Given the description of an element on the screen output the (x, y) to click on. 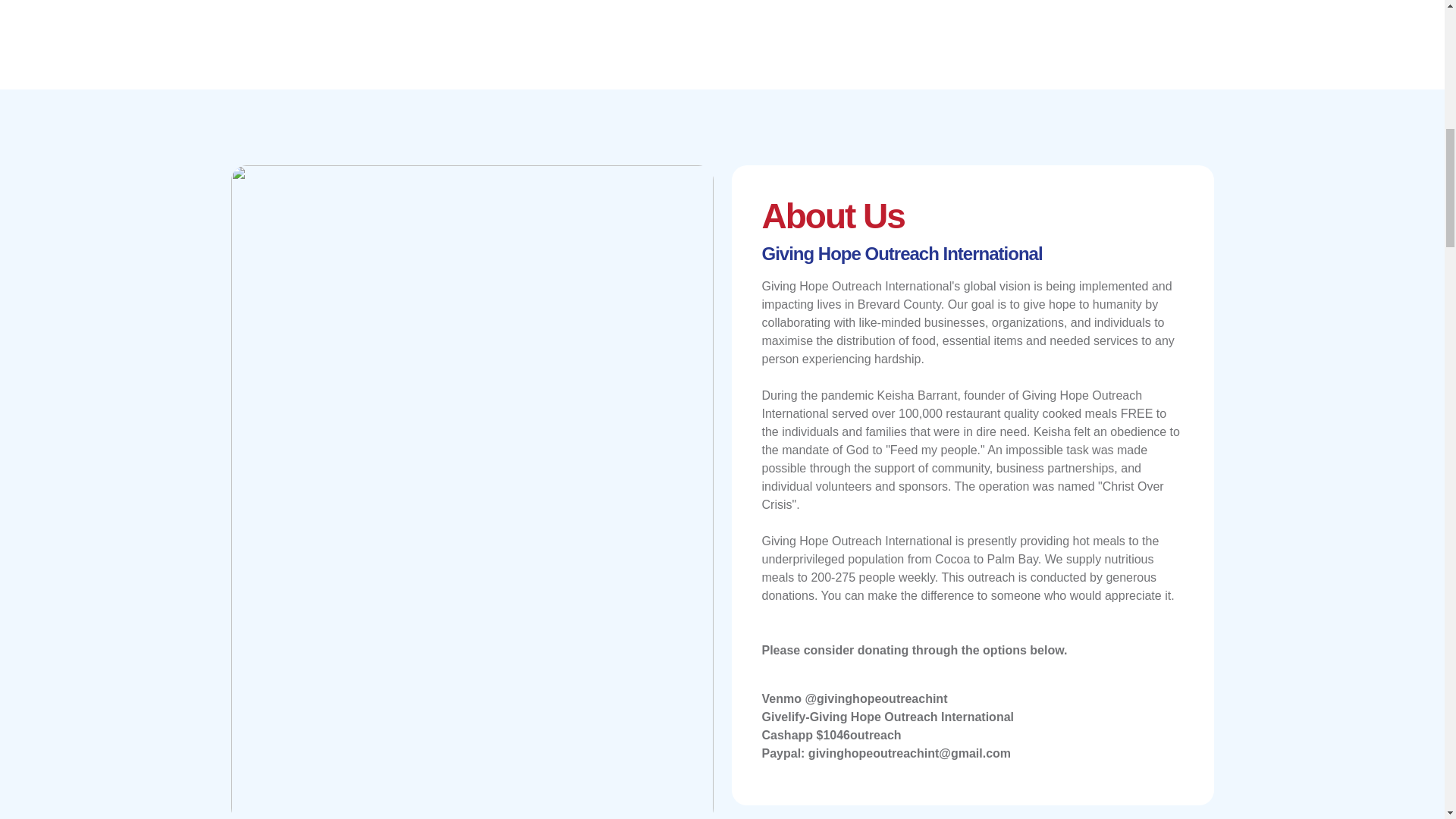
Community  Care (596, 1)
Make a Donation (847, 1)
Scholarship Hours (1096, 1)
Become a Volunteer (347, 1)
